Given the description of an element on the screen output the (x, y) to click on. 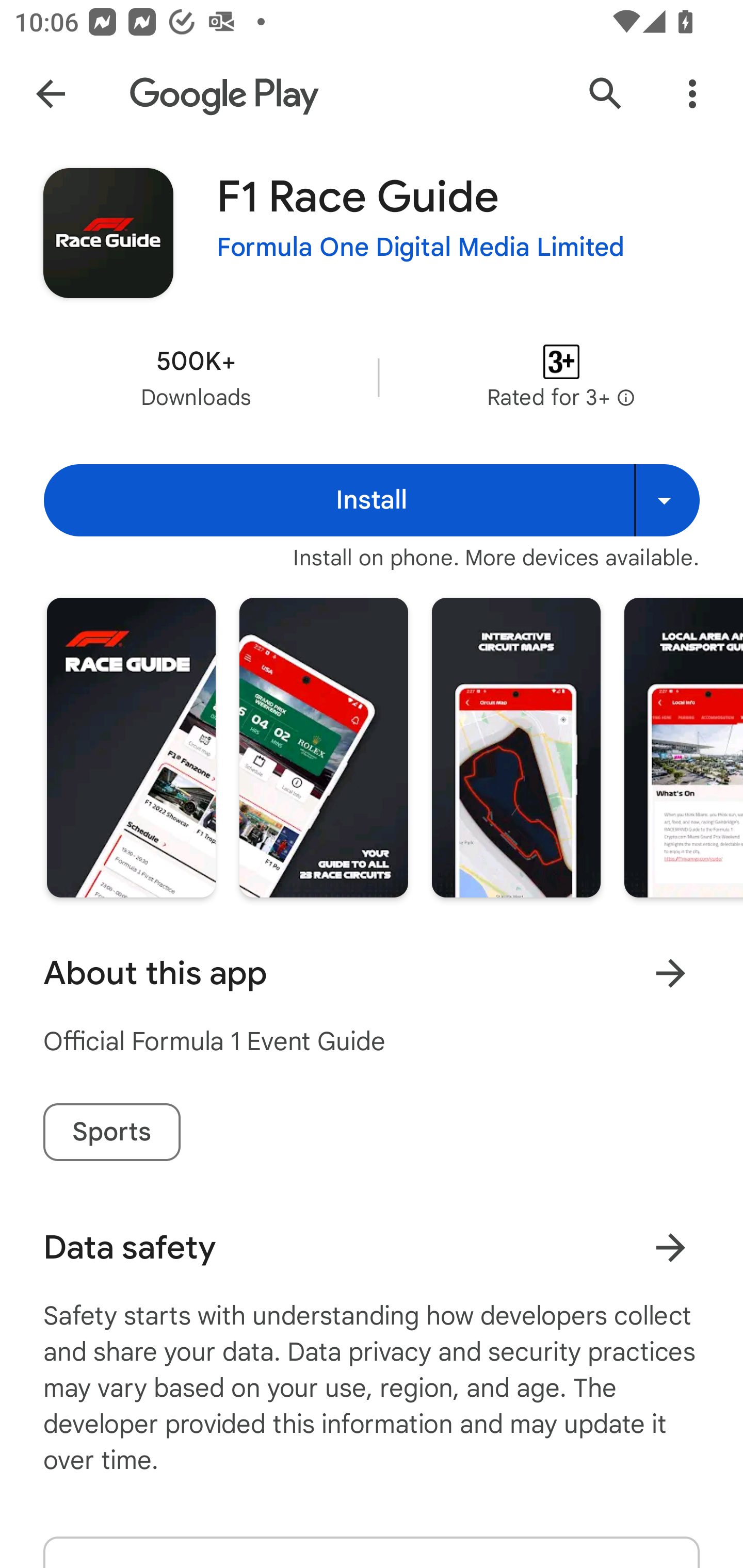
Navigate up (50, 93)
Search Google Play (605, 93)
More Options (692, 93)
Formula One Digital Media Limited (420, 247)
Content rating Rated for 3+ (561, 377)
Install Install Install on more devices (371, 500)
Install on more devices (667, 500)
Screenshot "1" of "6" (130, 746)
Screenshot "2" of "6" (323, 746)
Screenshot "3" of "6" (515, 746)
Screenshot "4" of "6" (683, 746)
About this app Learn more About this app (371, 972)
Learn more About this app (670, 972)
Sports tag (111, 1132)
Data safety Learn more about data safety (371, 1247)
Learn more about data safety (670, 1247)
